Given the description of an element on the screen output the (x, y) to click on. 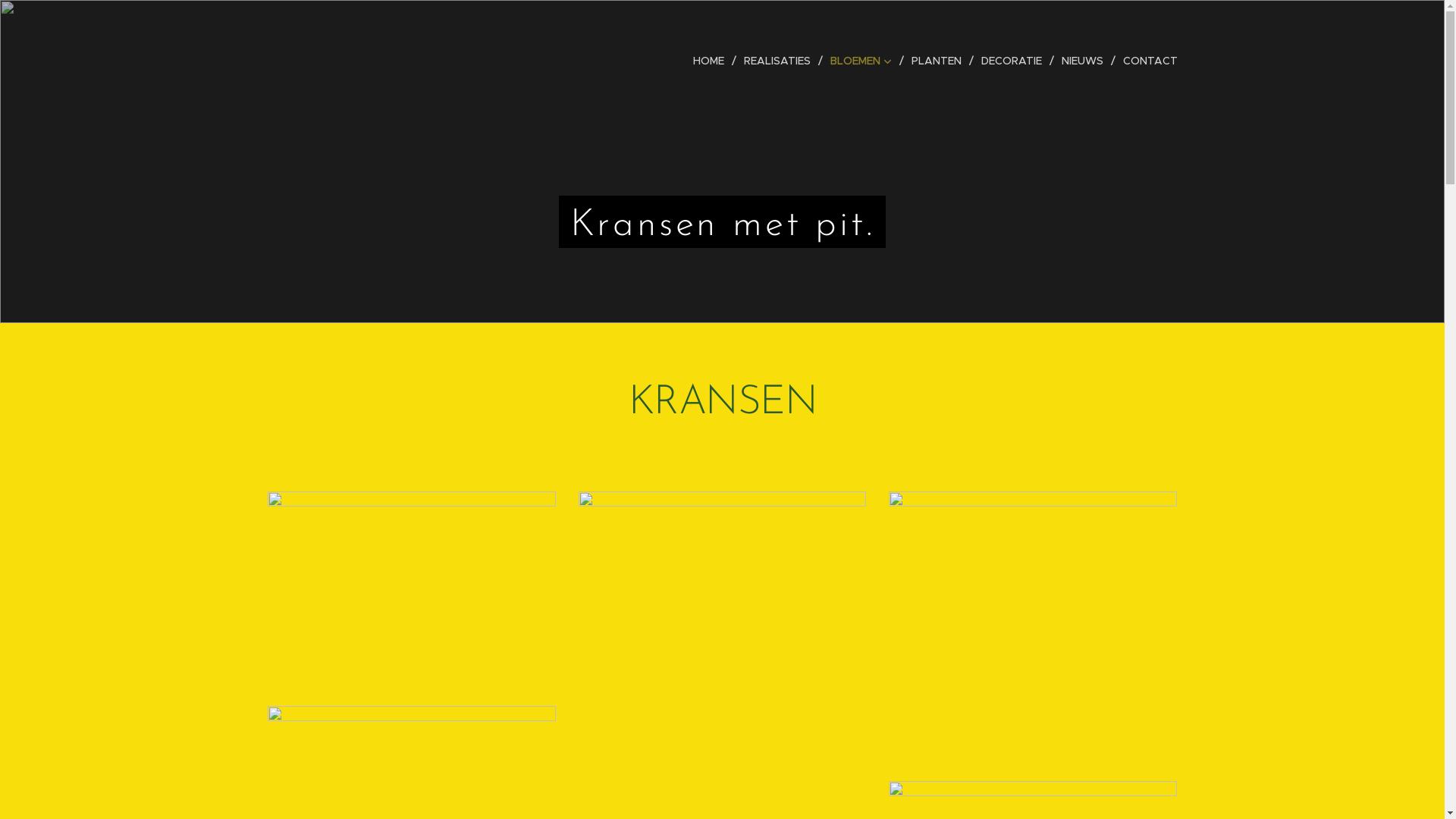
NIEUWS Element type: text (1084, 60)
PLANTEN Element type: text (938, 60)
REALISATIES Element type: text (778, 60)
BLOEMEN Element type: text (862, 60)
DECORATIE Element type: text (1013, 60)
CONTACT Element type: text (1145, 60)
HOME Element type: text (711, 60)
